Given the description of an element on the screen output the (x, y) to click on. 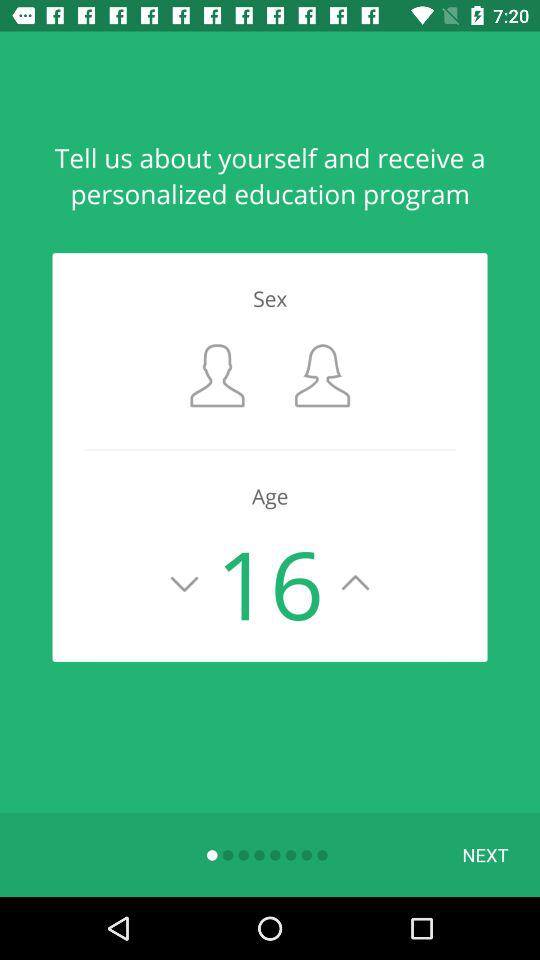
increment number (355, 583)
